Given the description of an element on the screen output the (x, y) to click on. 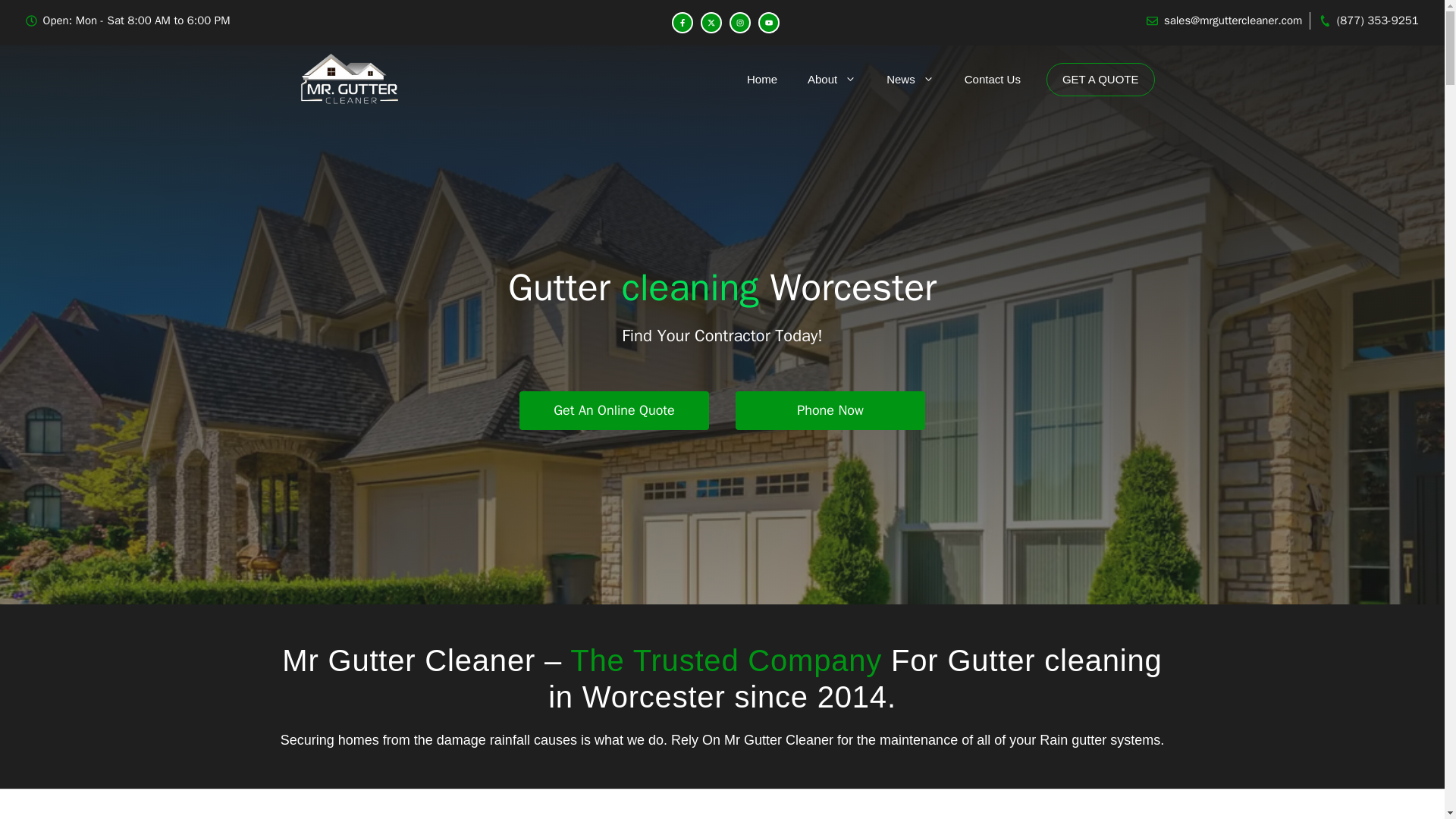
Contact Us (992, 79)
Get An Online Quote (614, 410)
GET A QUOTE (1100, 80)
About (831, 79)
Phone Now (829, 410)
The Highest-rated Gutter Cleaning Service (349, 79)
News (909, 79)
Home (762, 79)
